Given the description of an element on the screen output the (x, y) to click on. 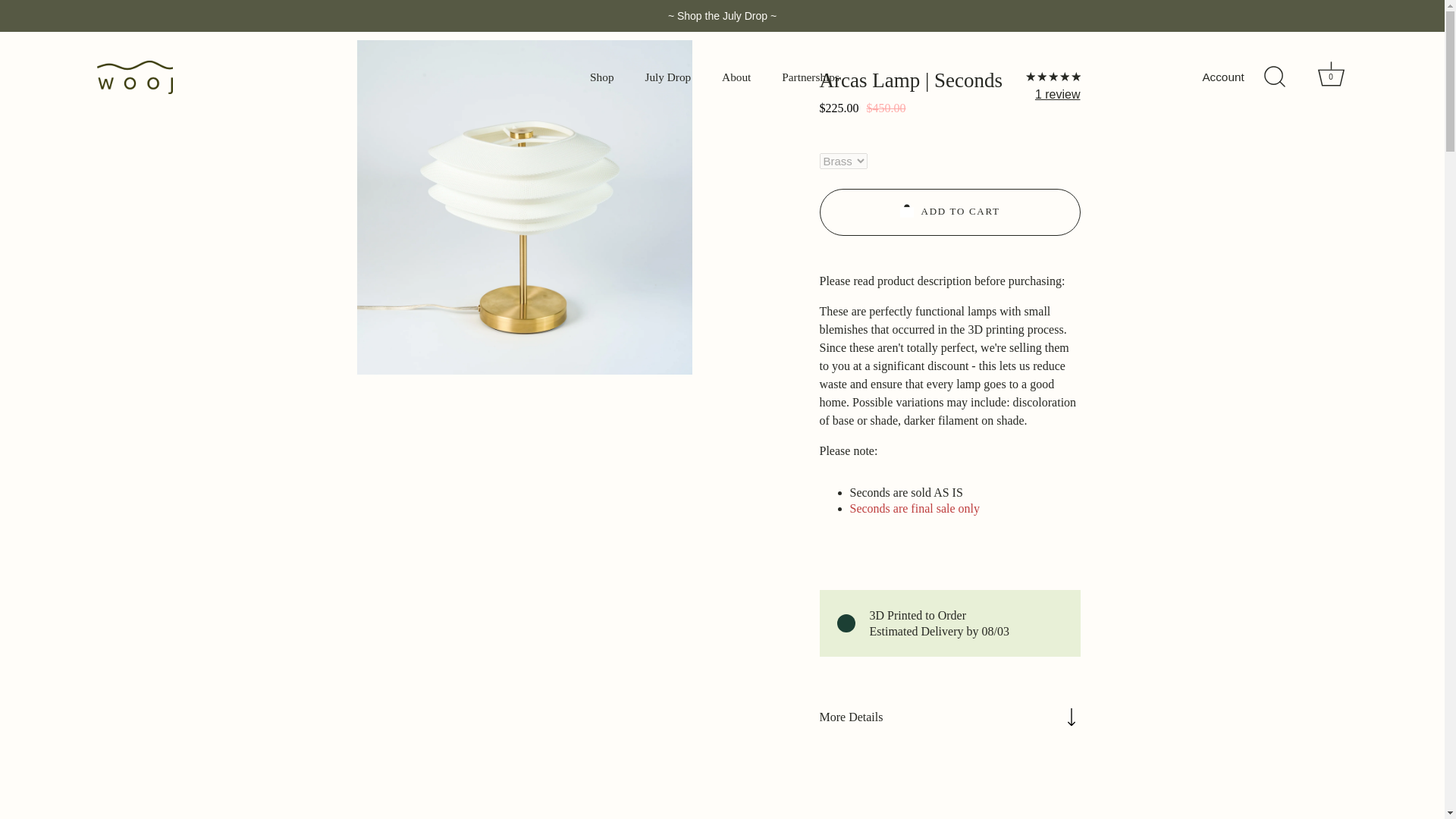
Cart (1330, 73)
Account (1235, 77)
Shop (601, 77)
About (736, 77)
July Drop (1331, 77)
Partnerships (667, 77)
